Given the description of an element on the screen output the (x, y) to click on. 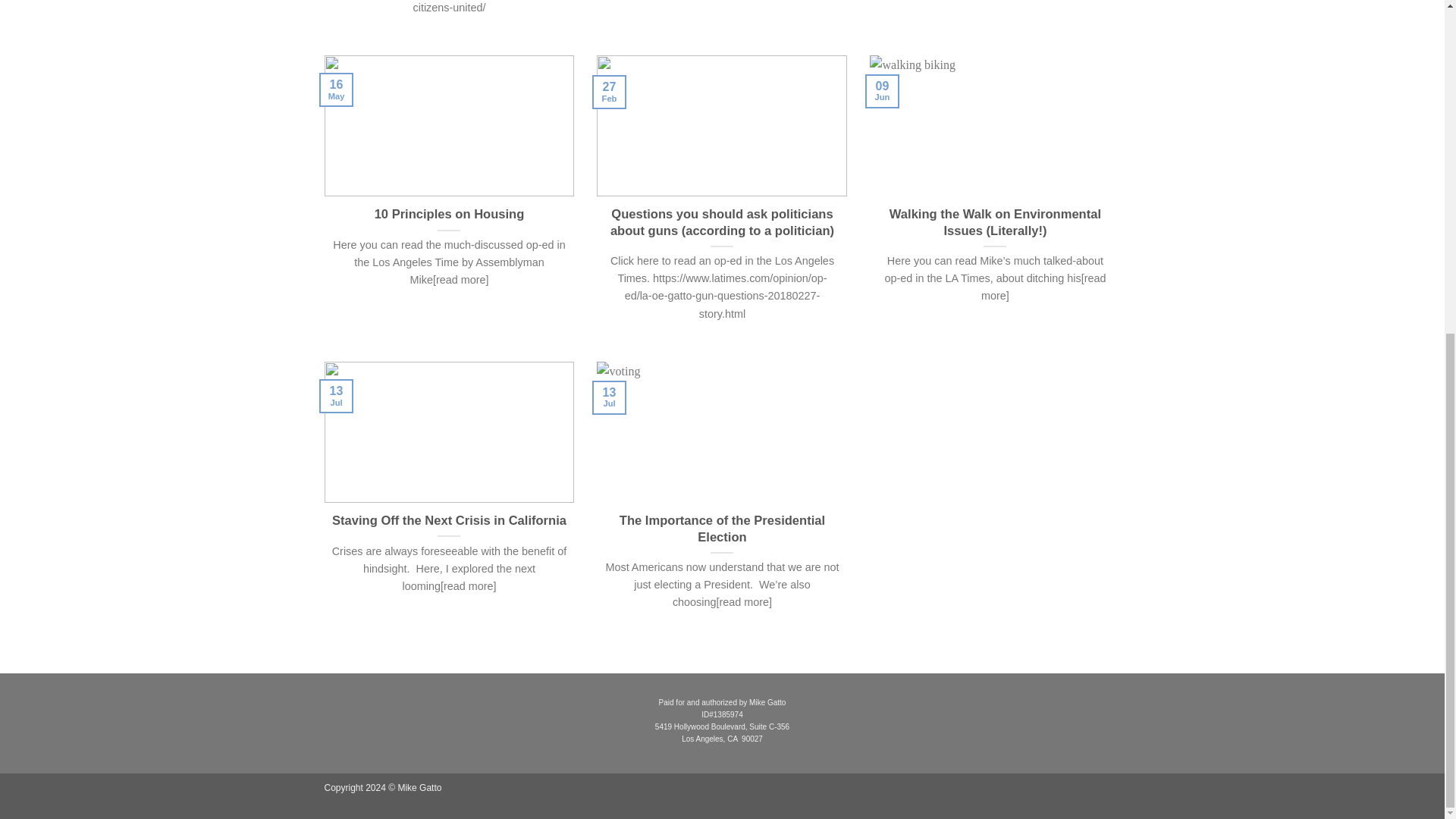
The Importance of the Presidential Election (722, 528)
Staving Off the Next Crisis in California (448, 520)
10 Principles on Housing (449, 214)
